Given the description of an element on the screen output the (x, y) to click on. 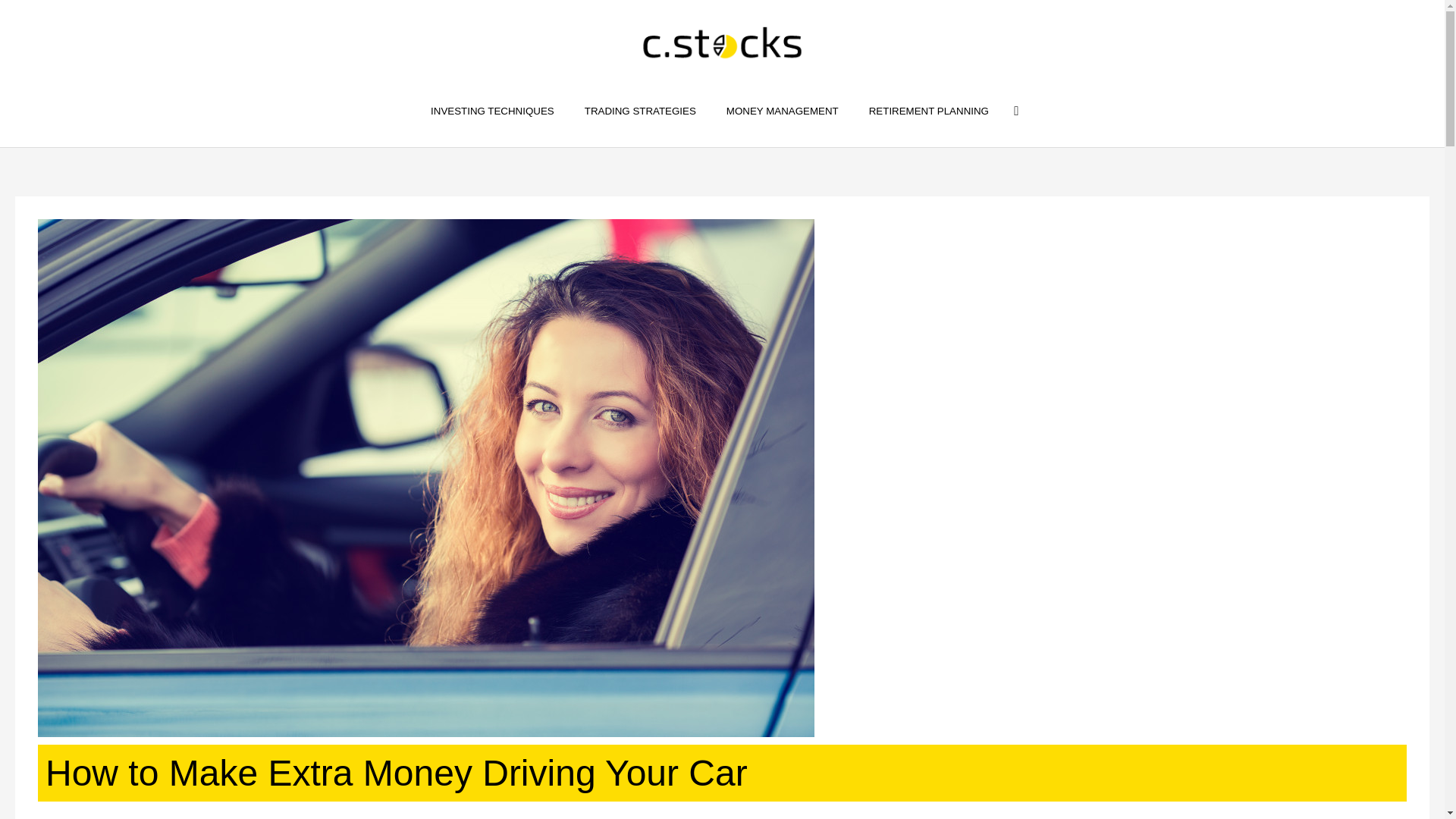
INVESTING TECHNIQUES (491, 110)
MONEY MANAGEMENT (782, 110)
TRADING STRATEGIES (640, 110)
RETIREMENT PLANNING (928, 110)
